Given the description of an element on the screen output the (x, y) to click on. 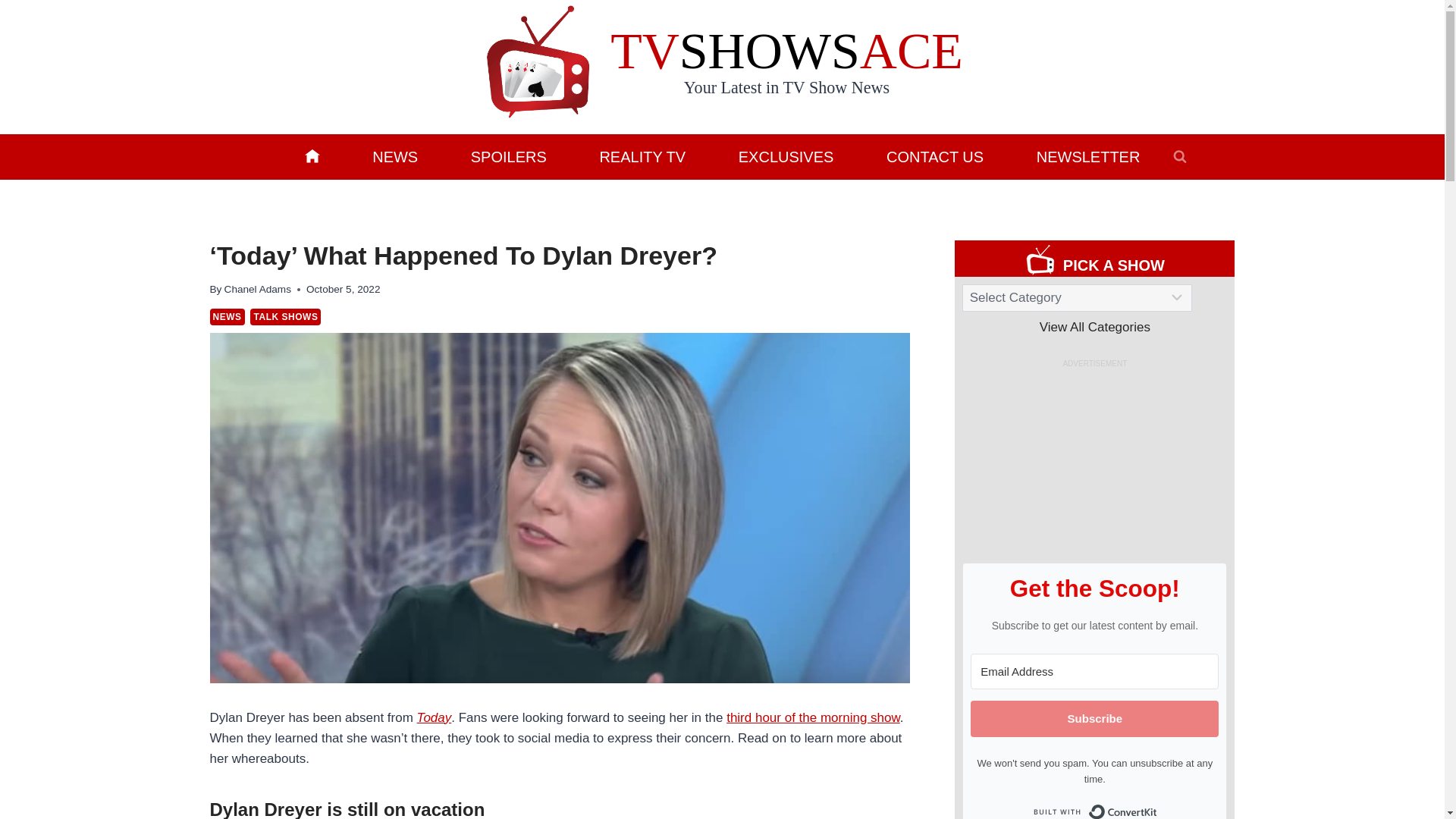
Chanel Adams (257, 288)
TALK SHOWS (285, 316)
Today (433, 717)
REALITY TV (642, 156)
NEWS (226, 316)
third hour of the morning show (812, 717)
SPOILERS (508, 156)
CONTACT US (935, 156)
NEWSLETTER (1088, 156)
EXCLUSIVES (785, 156)
